Given the description of an element on the screen output the (x, y) to click on. 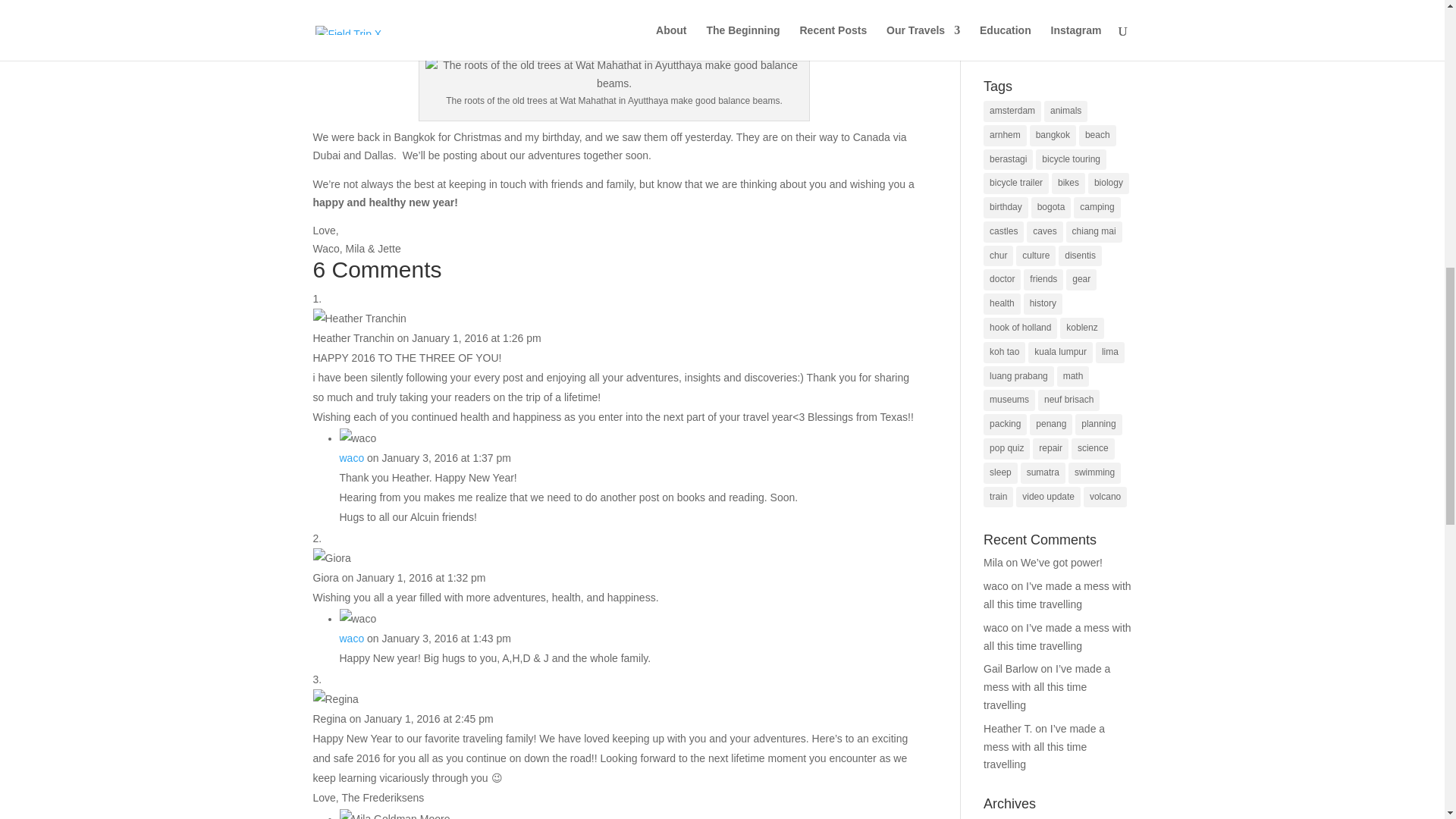
waco (352, 638)
waco (352, 458)
